Given the description of an element on the screen output the (x, y) to click on. 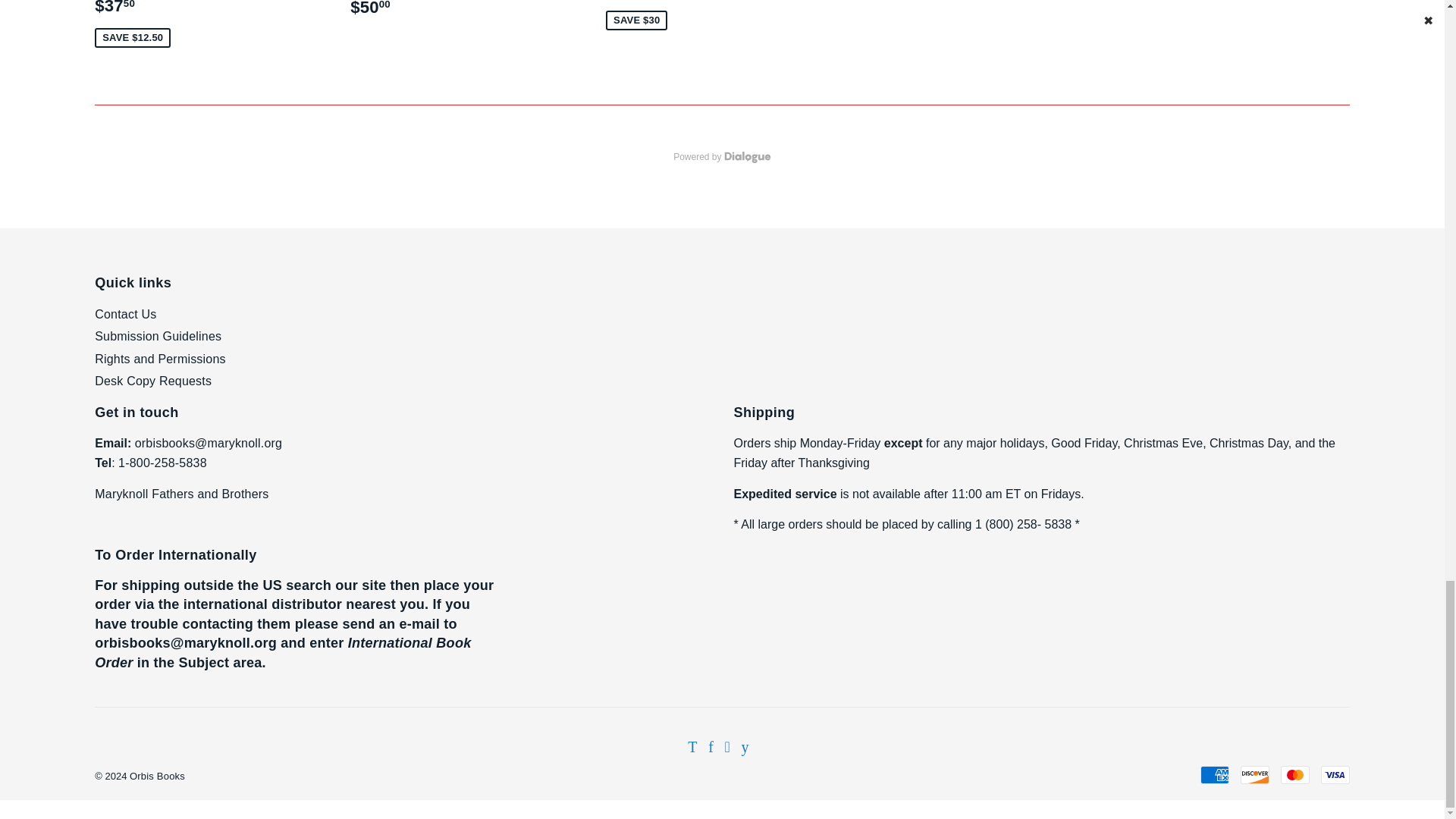
American Express (1213, 773)
Visa (1334, 773)
Mastercard (1294, 773)
Discover (1254, 773)
tel:9149417636 (161, 462)
